Given the description of an element on the screen output the (x, y) to click on. 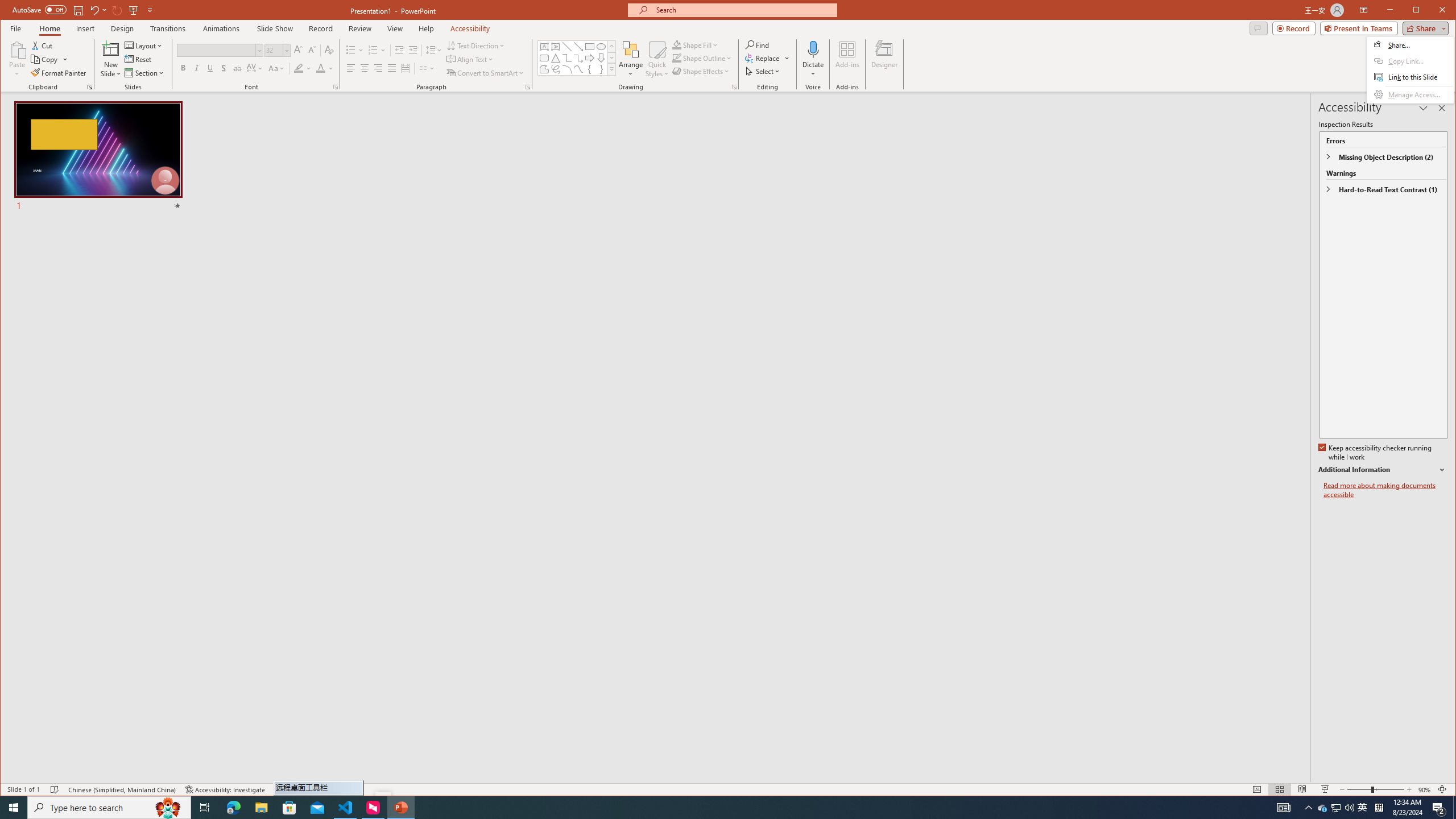
Notification Chevron (1308, 807)
AutomationID: 4105 (1283, 807)
Underline (209, 68)
Type here to search (108, 807)
Shadow (224, 68)
Layout (143, 45)
